Given the description of an element on the screen output the (x, y) to click on. 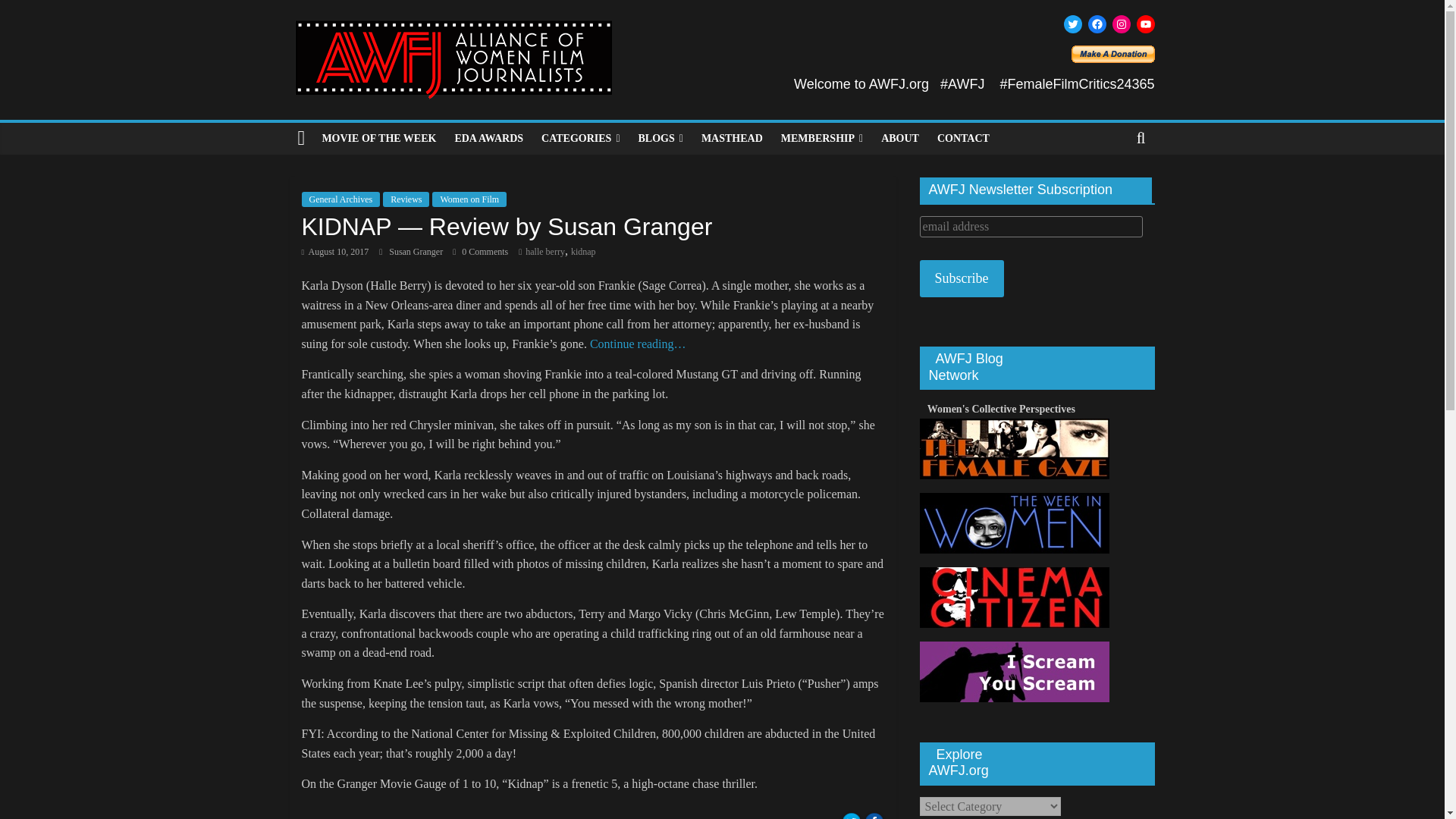
Facebook (1096, 24)
Susan Granger (416, 251)
MASTHEAD (732, 138)
CATEGORIES (580, 138)
YouTube (1144, 24)
MEMBERSHIP (821, 138)
BLOGS (660, 138)
Women on Film (469, 199)
ABOUT (900, 138)
General Archives (340, 199)
9:01 am (335, 251)
EDA AWARDS (488, 138)
August 10, 2017 (335, 251)
Reviews (405, 199)
Susan Granger (416, 251)
